Given the description of an element on the screen output the (x, y) to click on. 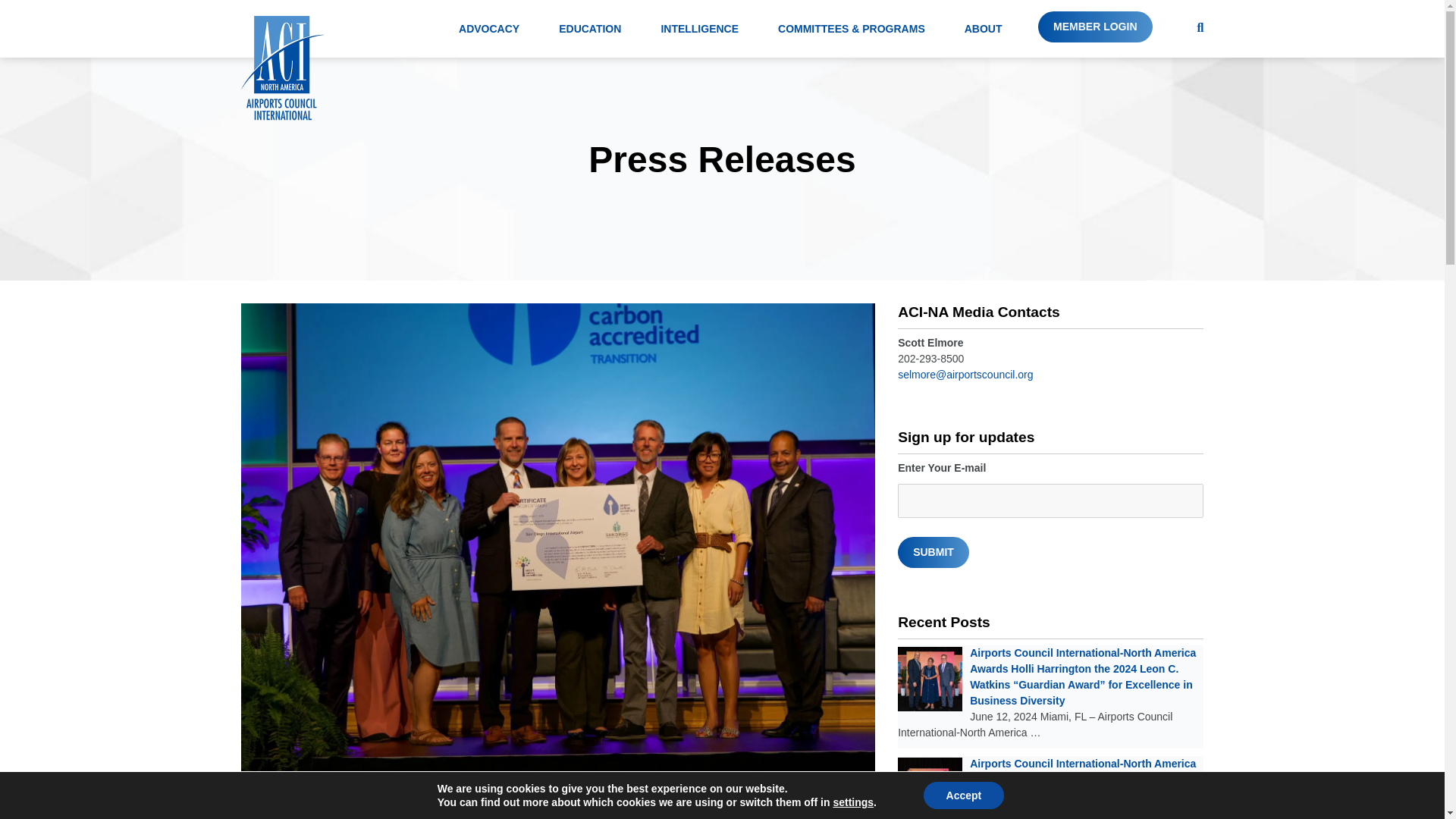
Submit (933, 552)
